Given the description of an element on the screen output the (x, y) to click on. 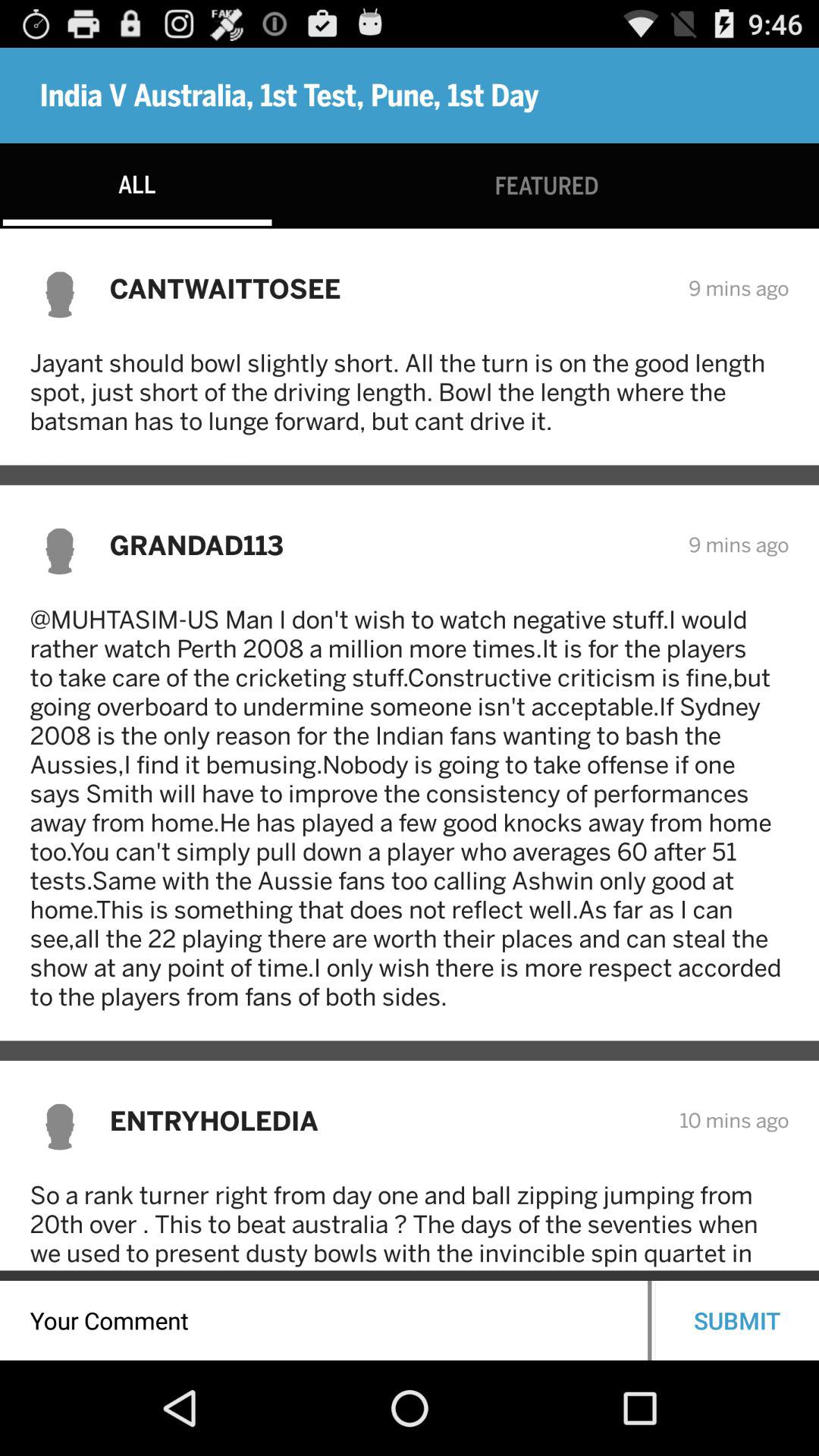
launch the featured item (546, 185)
